Given the description of an element on the screen output the (x, y) to click on. 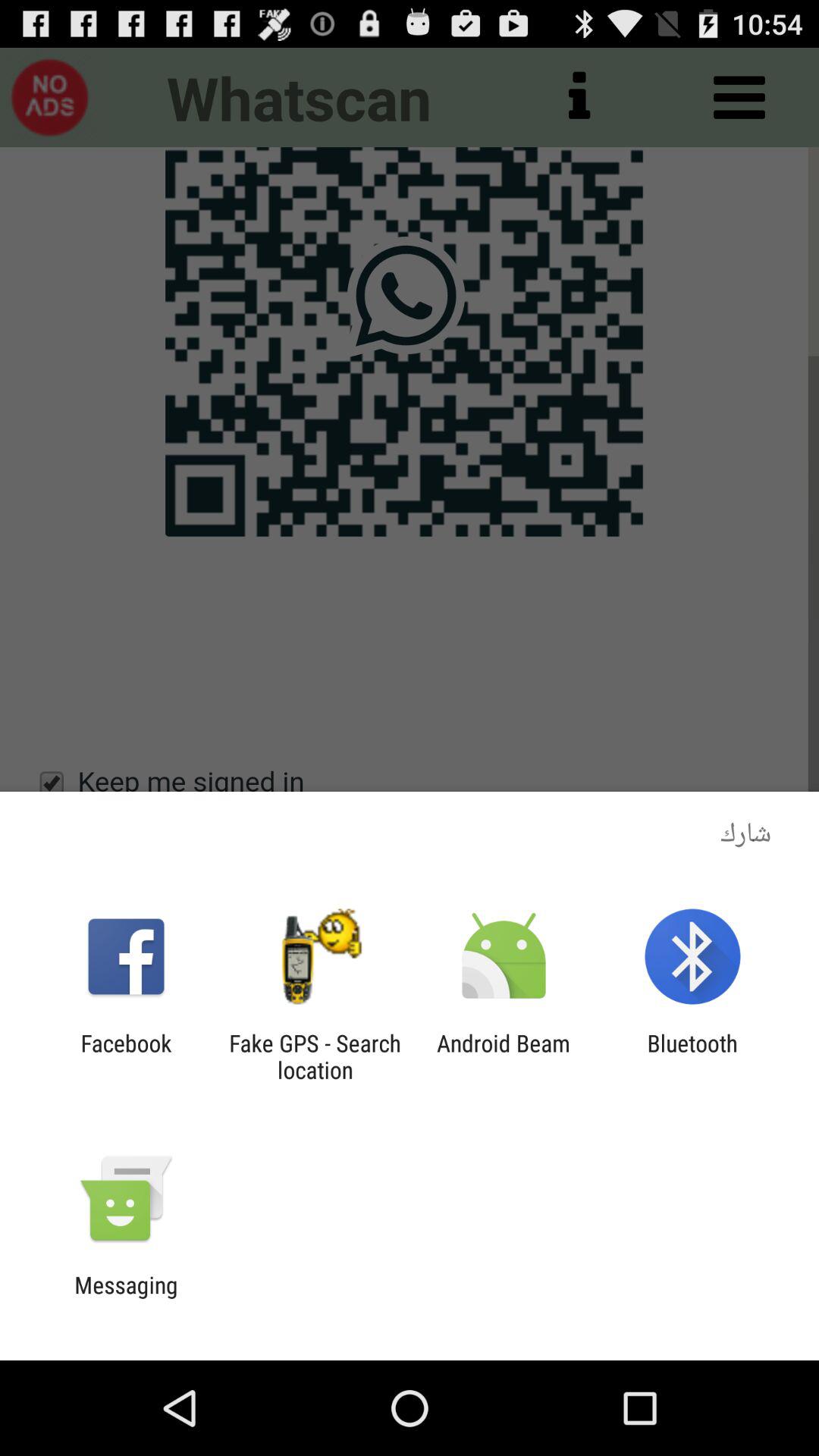
scroll until the bluetooth icon (692, 1056)
